Given the description of an element on the screen output the (x, y) to click on. 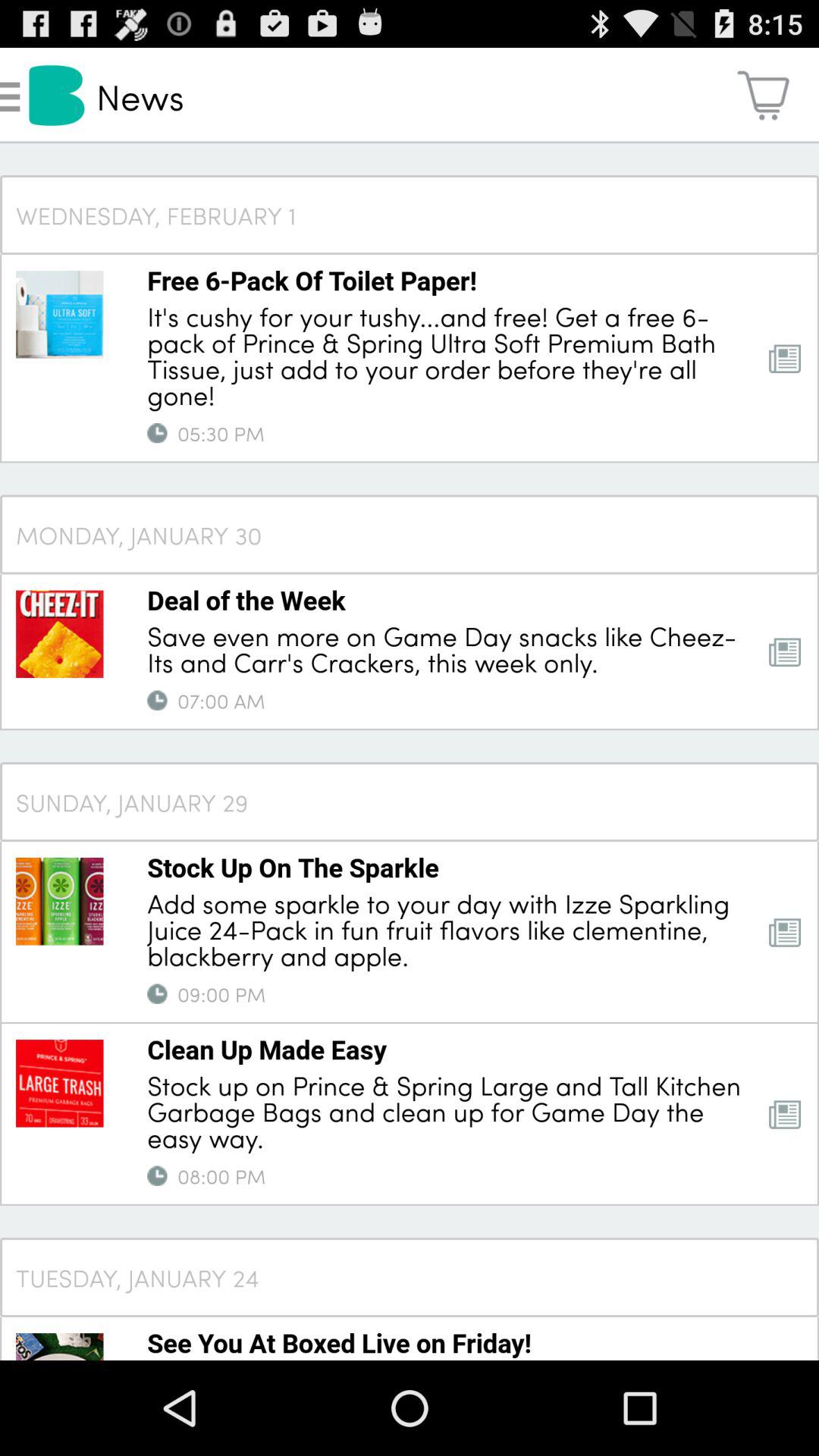
open item to the left of the 07:00 am item (157, 700)
